Given the description of an element on the screen output the (x, y) to click on. 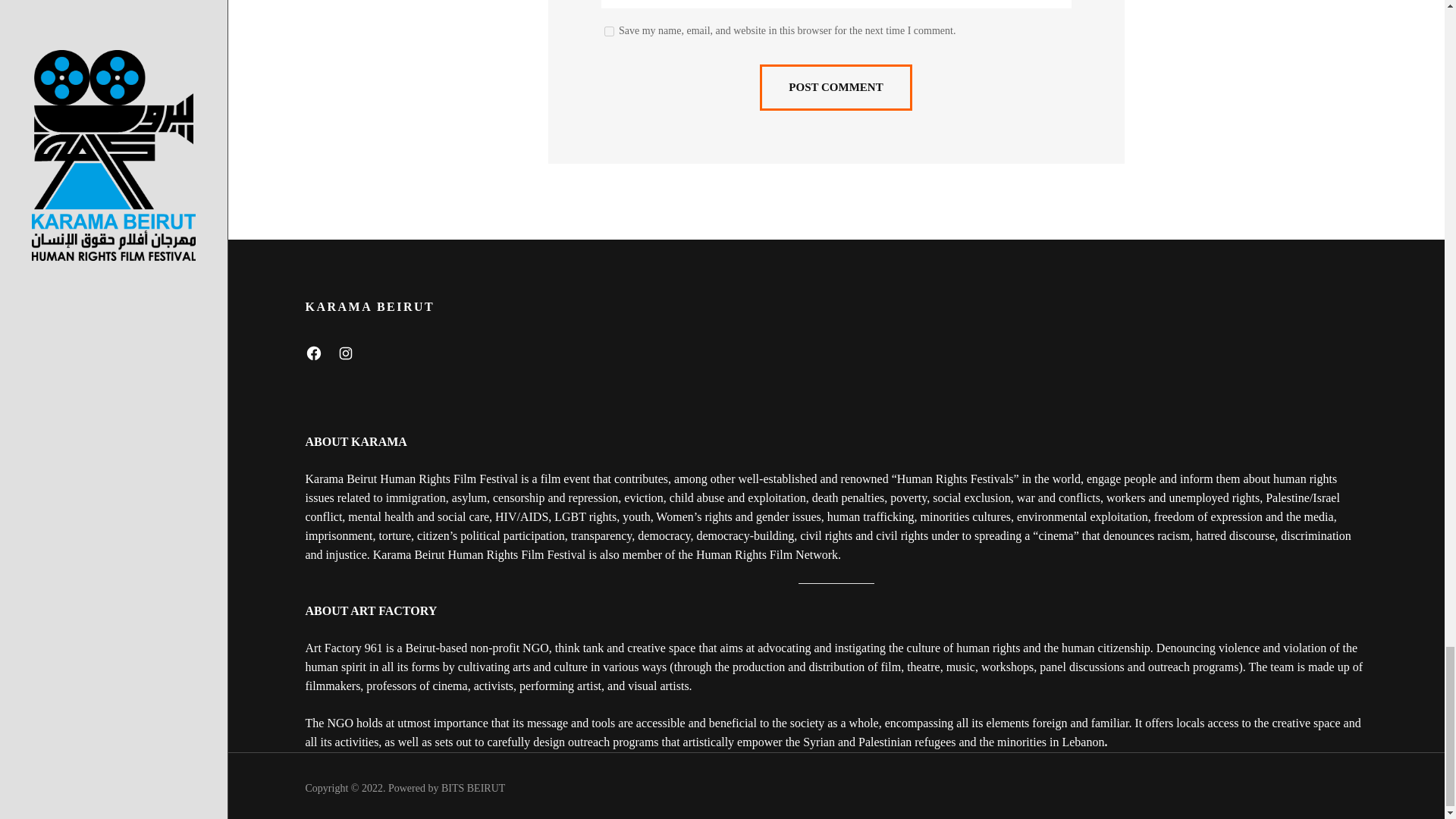
Post Comment (836, 87)
BITS BEIRUT (473, 787)
Instagram (345, 353)
Facebook (313, 353)
Post Comment (836, 87)
